Given the description of an element on the screen output the (x, y) to click on. 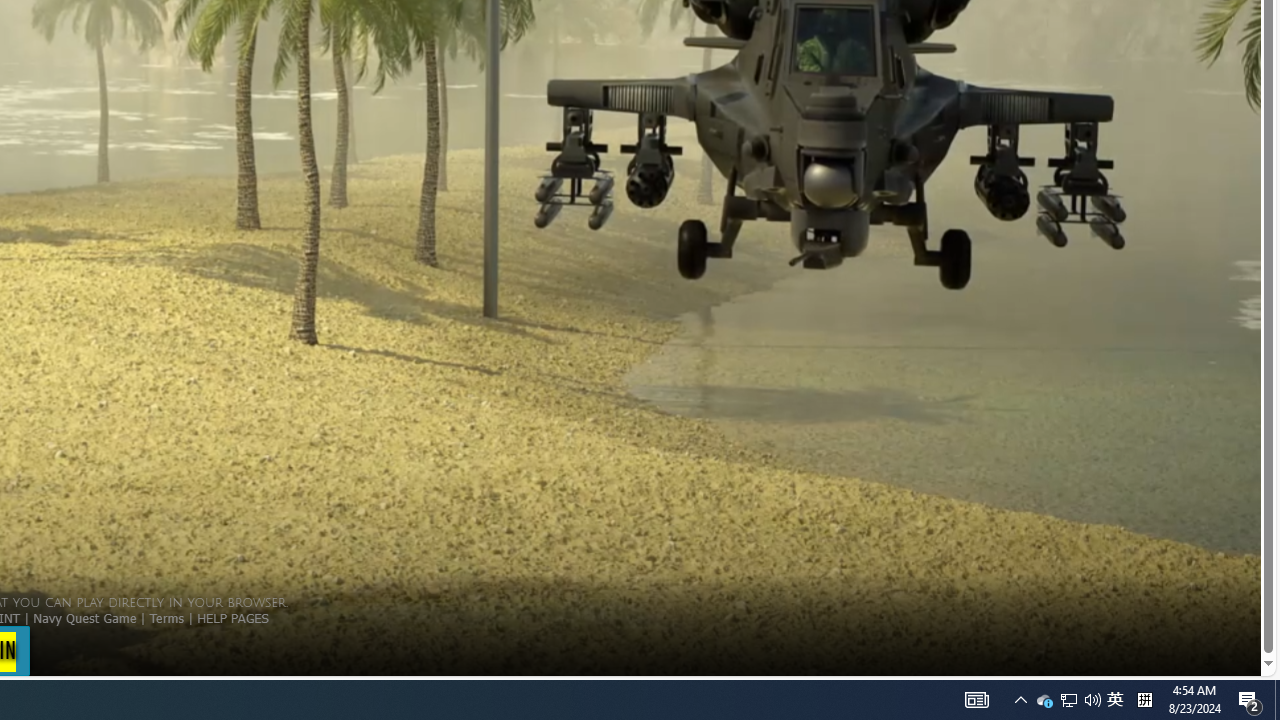
HELP PAGES (232, 617)
Terms (166, 617)
Navy Quest Game (84, 617)
